Given the description of an element on the screen output the (x, y) to click on. 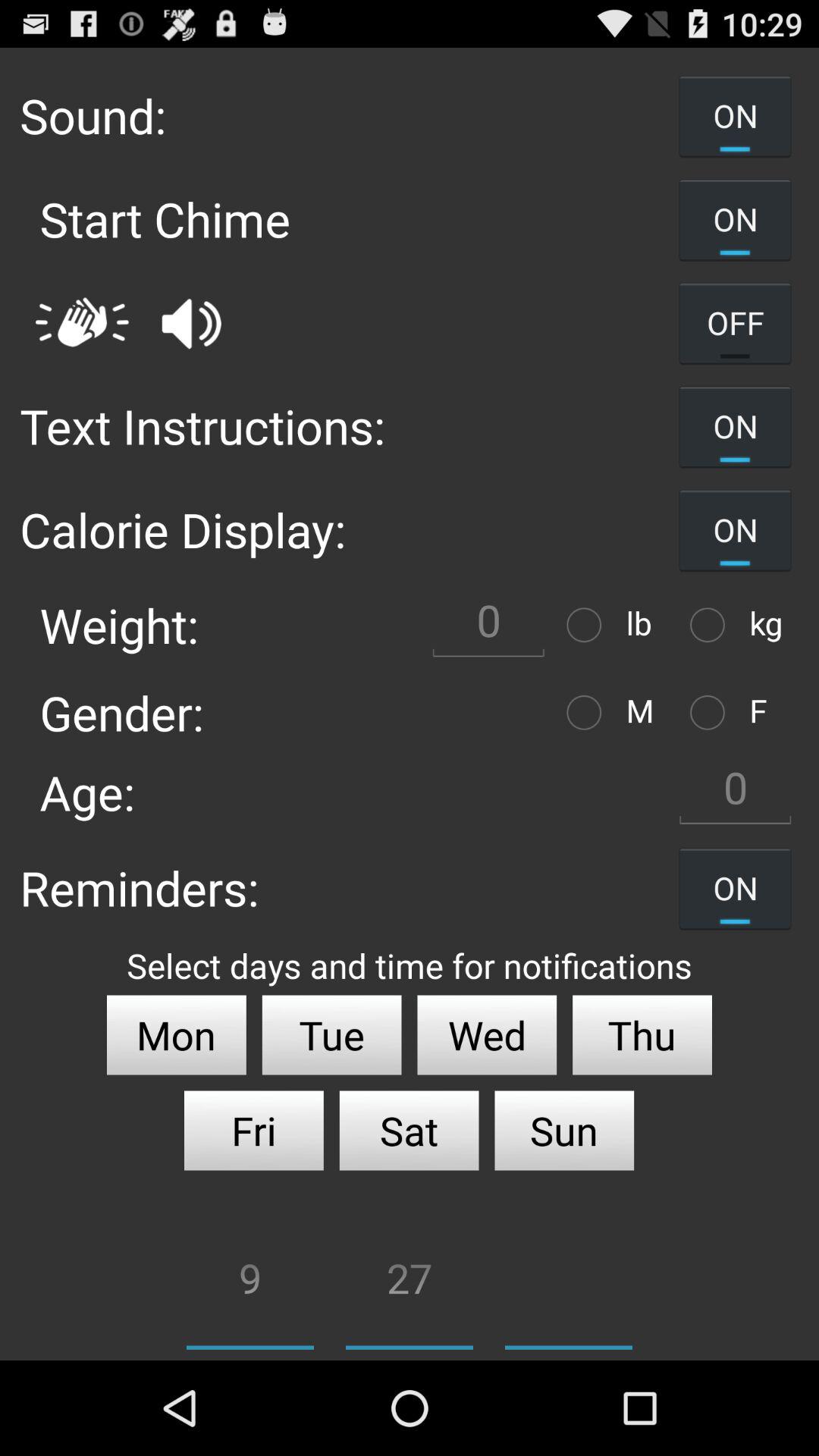
0 (735, 792)
